Given the description of an element on the screen output the (x, y) to click on. 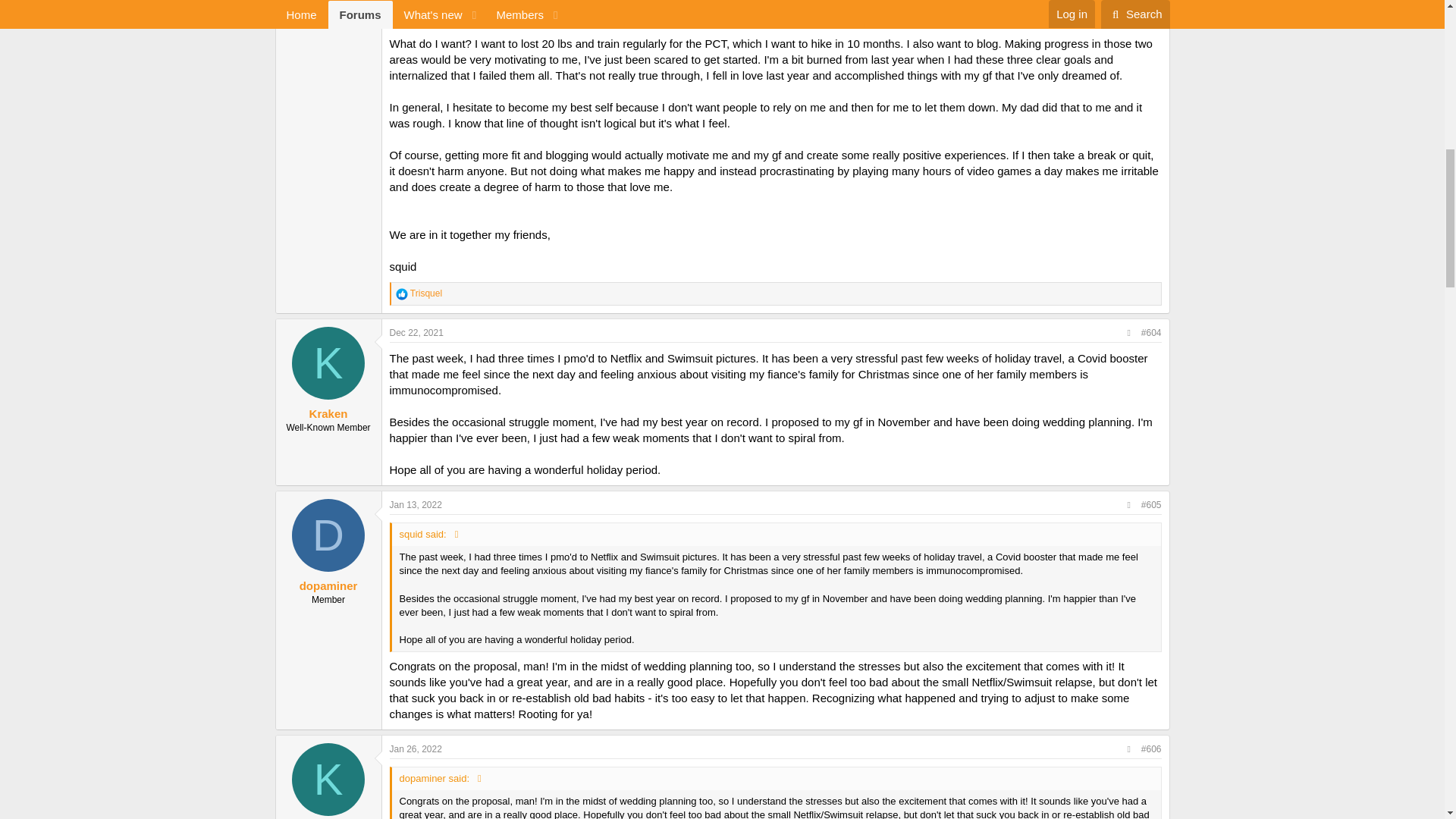
Like (401, 294)
Dec 22, 2021 at 1:57 PM (417, 332)
Jan 26, 2022 at 2:15 PM (416, 748)
Jan 13, 2022 at 1:31 AM (416, 504)
